Given the description of an element on the screen output the (x, y) to click on. 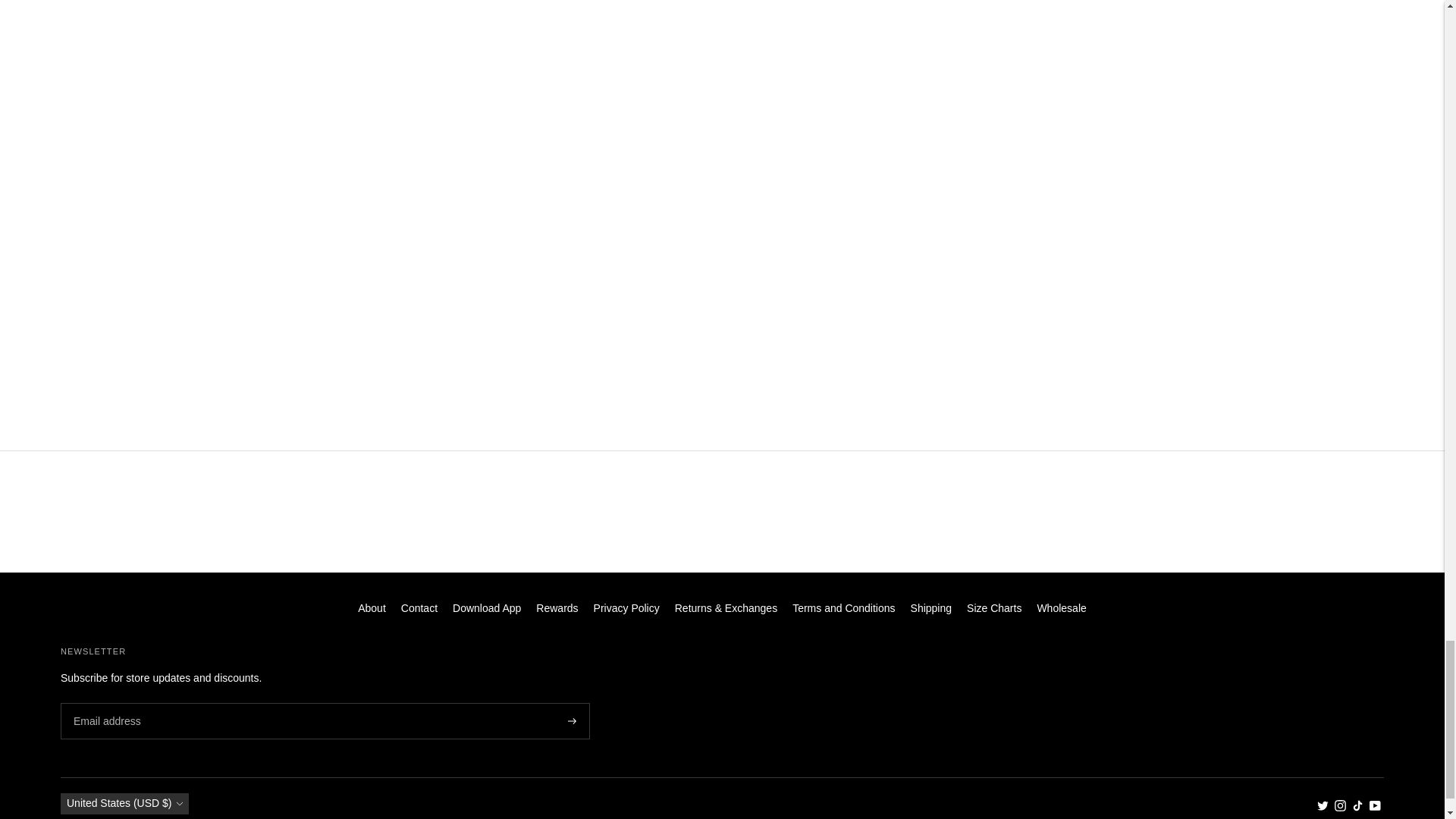
HommeFemmeLA on YouTube (1375, 807)
HommeFemmeLA on TikTok (1357, 807)
HommeFemmeLA on Instagram (1340, 807)
HommeFemmeLA on Twitter (1322, 807)
